Given the description of an element on the screen output the (x, y) to click on. 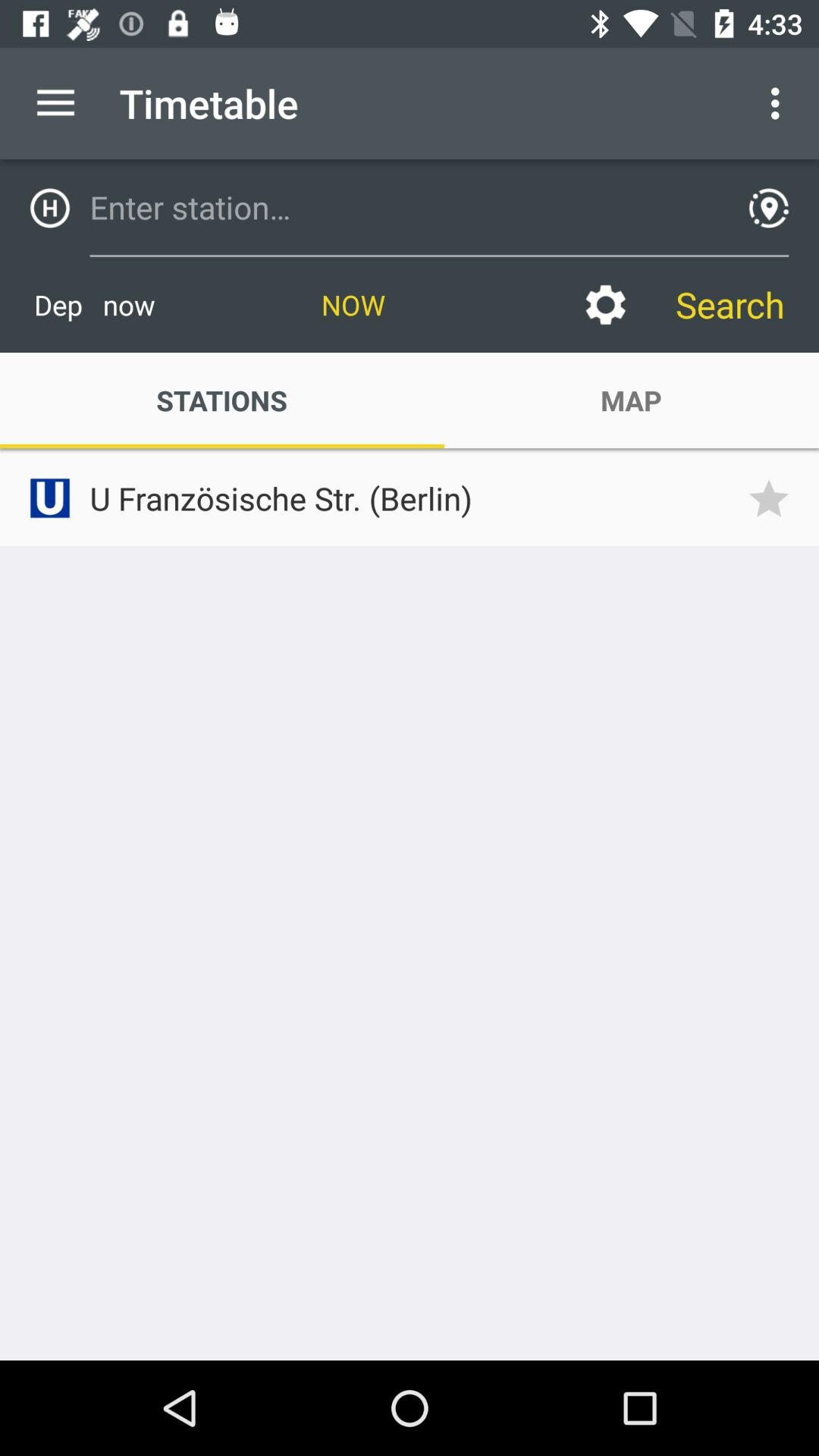
launch the item above stations icon (94, 304)
